Given the description of an element on the screen output the (x, y) to click on. 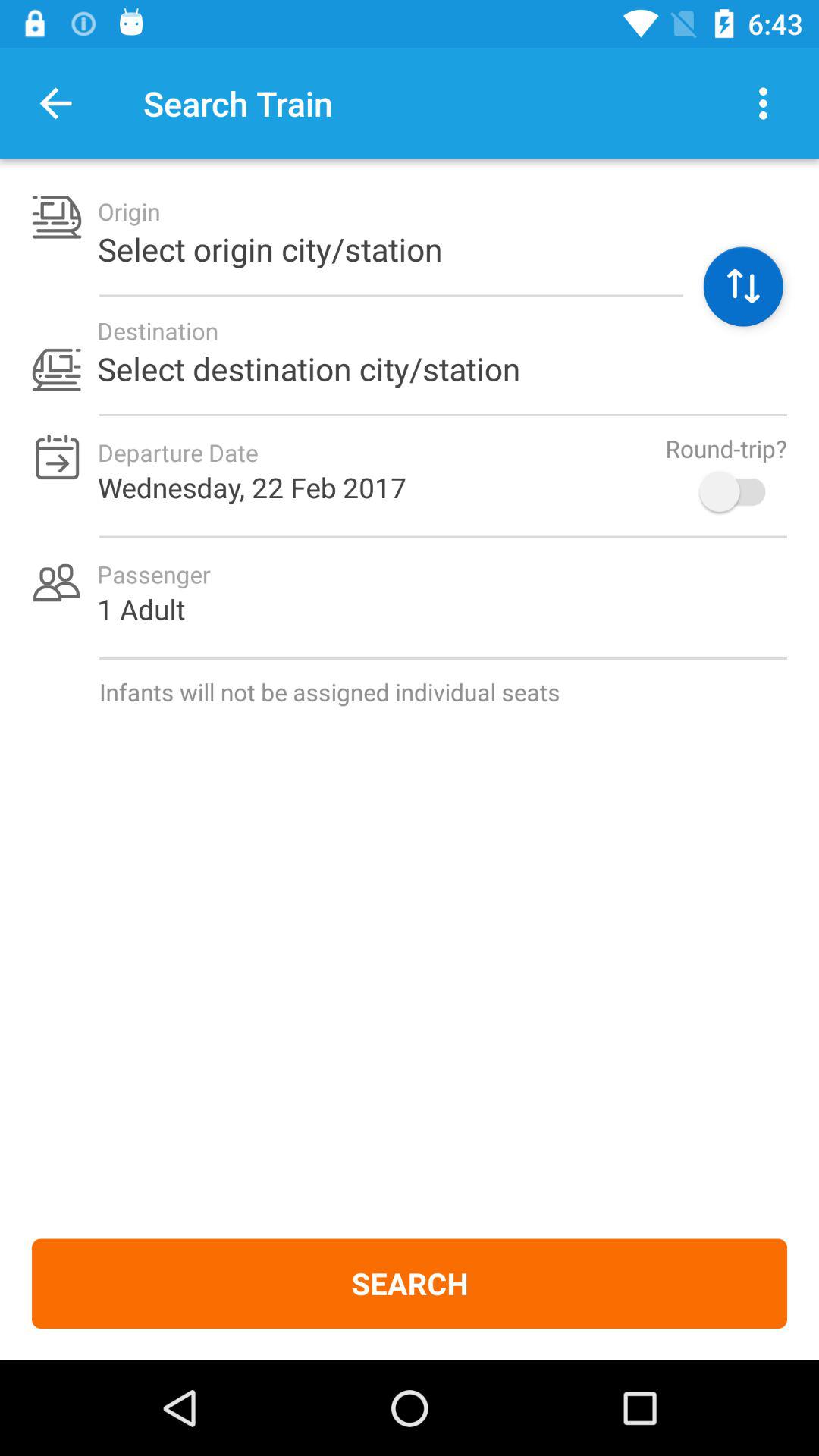
turn on item to the right of wednesday 22 feb icon (739, 491)
